Given the description of an element on the screen output the (x, y) to click on. 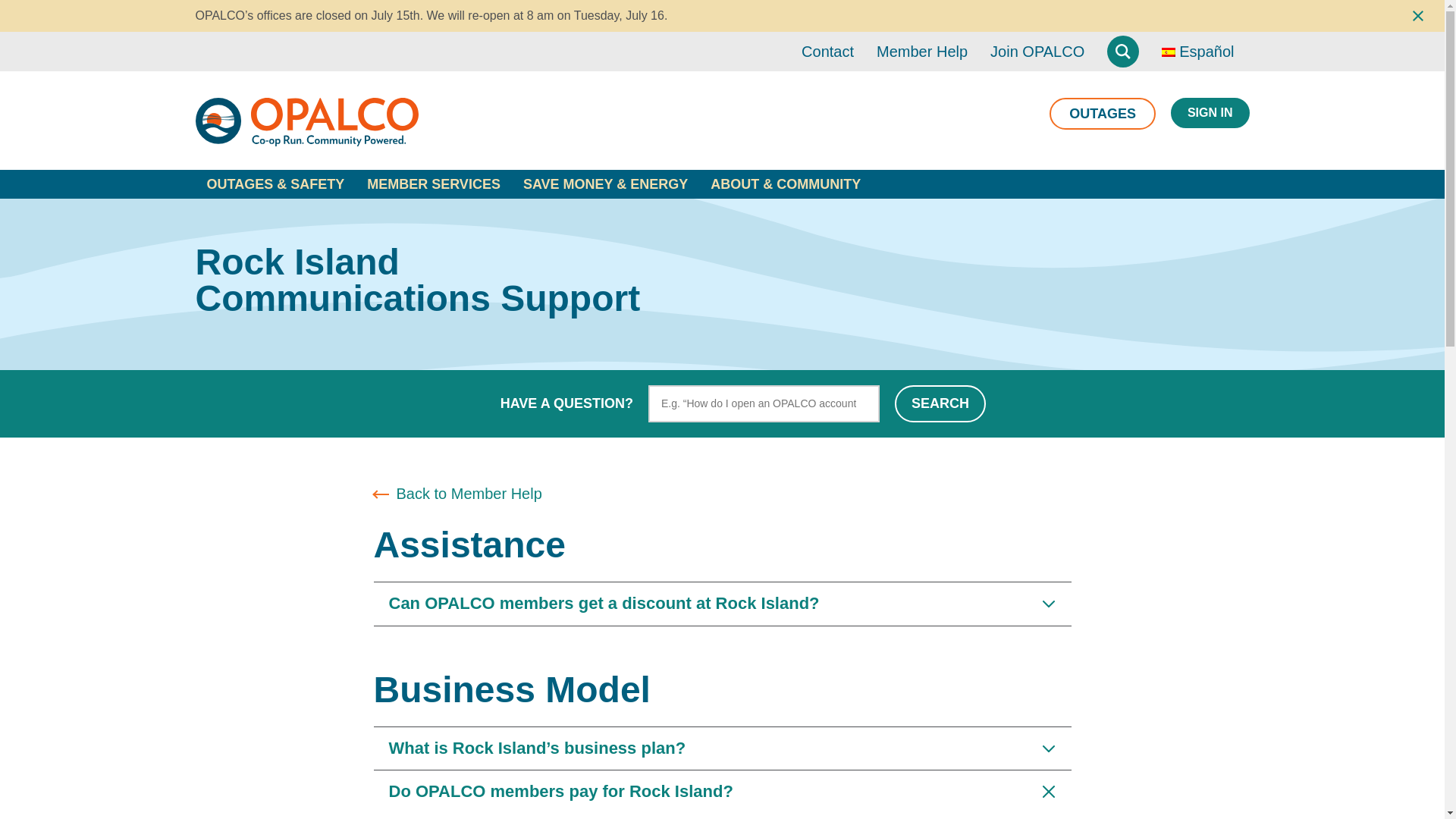
ELECTRIC VEHICLES (280, 210)
GO ELECTRIC (269, 210)
MEMBER SERVICES (433, 184)
MY ACCOUNT (638, 210)
LOWER MY BILL TOOLKIT (1004, 210)
ENERGY ASSIST PROGRAM (1011, 210)
OUTAGE CENTER (269, 210)
UNDERSTAND YOUR POWER COSTS (705, 210)
ENERGY SAVINGS HUB (286, 210)
SOLAR (494, 210)
THE ISLAND WAY (268, 210)
SAFETY CENTER (268, 210)
PAY YOUR BILL (642, 210)
Join OPALCO (1037, 51)
Member Help (922, 51)
